Given the description of an element on the screen output the (x, y) to click on. 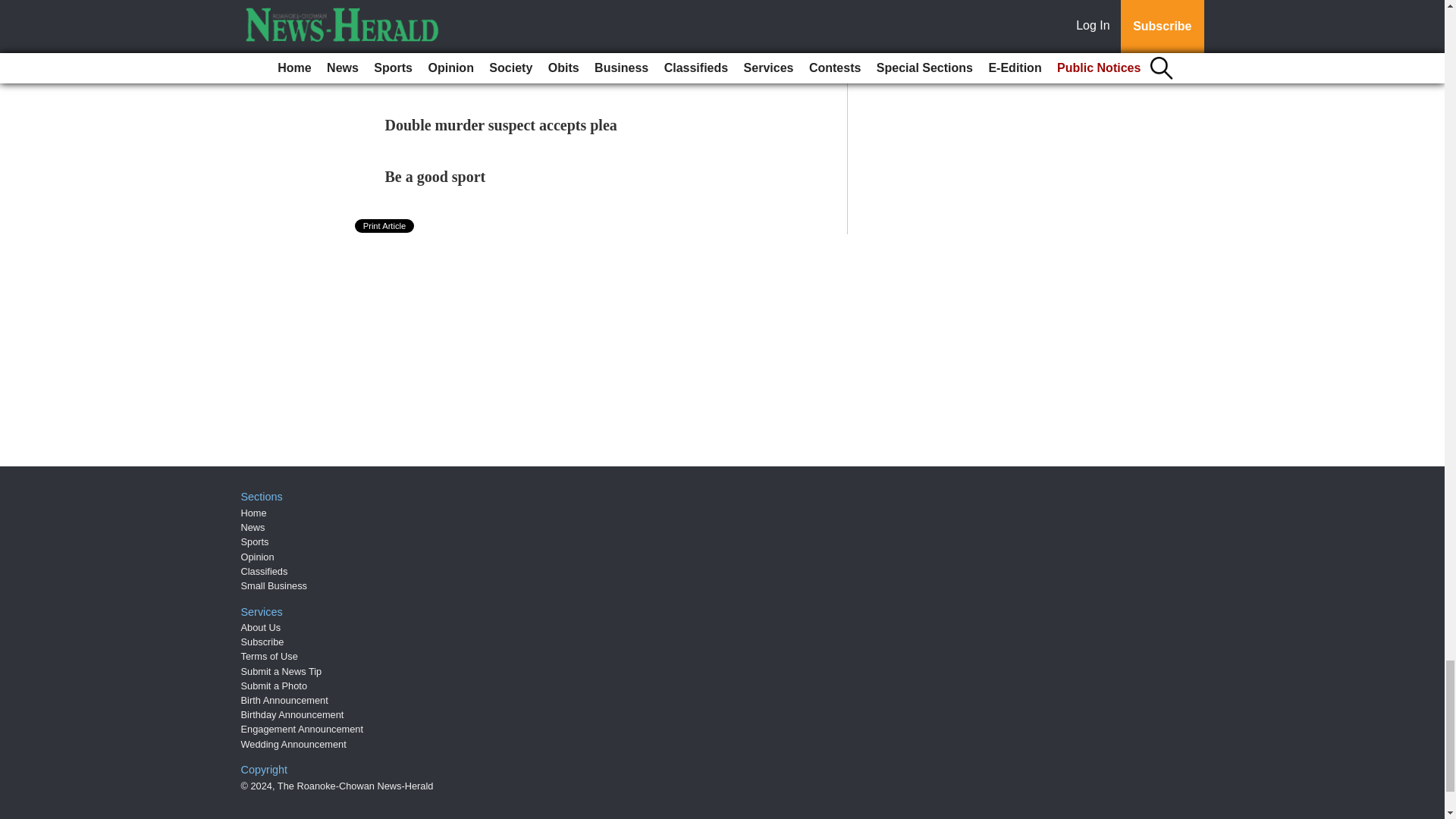
Double murder suspect accepts plea (501, 125)
Be a good sport (435, 176)
Be a good sport (435, 176)
Double murder suspect enters guilty plea (517, 73)
Print Article (384, 225)
Double murder suspect accepts plea (501, 125)
Bertie Under Warning until 5:00 pm (503, 21)
Bertie Under Warning until 5:00 pm (503, 21)
Double murder suspect enters guilty plea (517, 73)
